Given the description of an element on the screen output the (x, y) to click on. 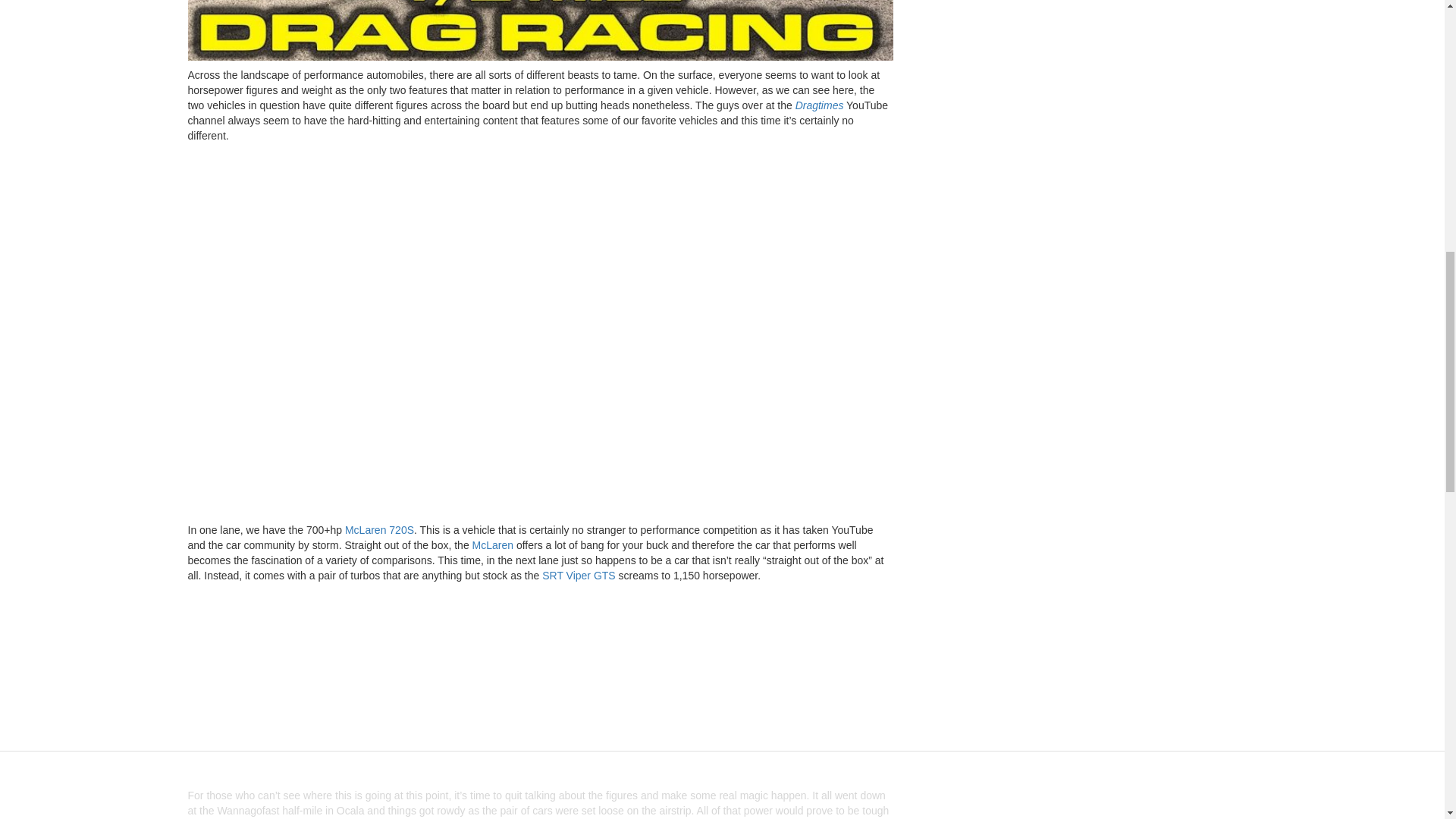
McLaren 720S (379, 530)
McLaren (492, 544)
SRT Viper GTS (577, 575)
Dragtimes (819, 105)
